Given the description of an element on the screen output the (x, y) to click on. 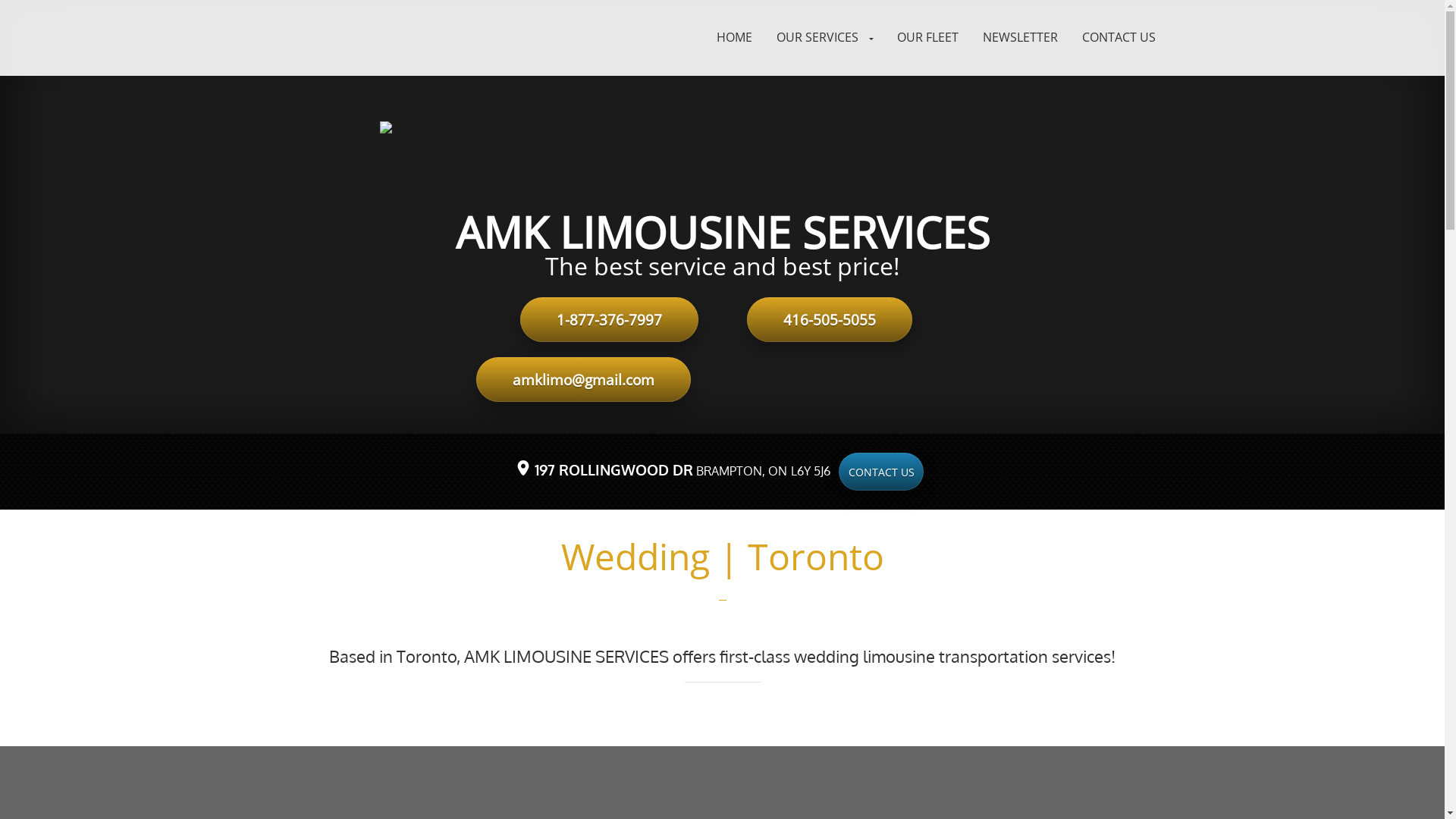
OUR SERVICES Element type: text (824, 37)
AMK LIMOUSINE SERVICES
The best service and best price! Element type: text (721, 199)
HOME Element type: text (734, 37)
1-877-376-7997 Element type: text (609, 319)
NEWSLETTER Element type: text (1020, 37)
CONTACT US Element type: text (1118, 37)
OUR FLEET Element type: text (927, 37)
CONTACT US Element type: text (881, 471)
amklimo@gmail.com Element type: text (583, 379)
416-505-5055 Element type: text (828, 319)
